Given the description of an element on the screen output the (x, y) to click on. 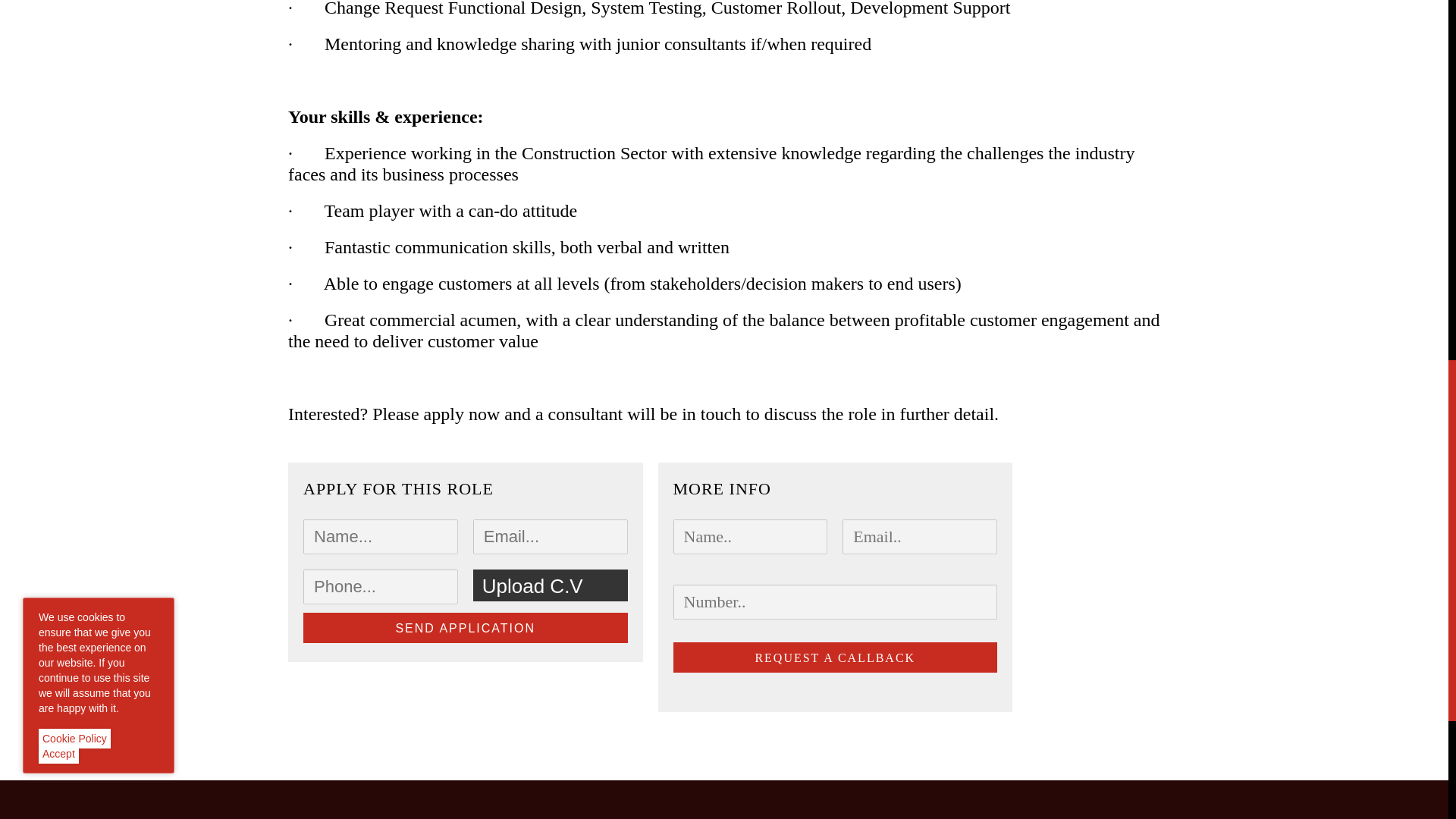
SEND APPLICATION (464, 627)
Request a callback (834, 657)
Request a callback (834, 657)
